Given the description of an element on the screen output the (x, y) to click on. 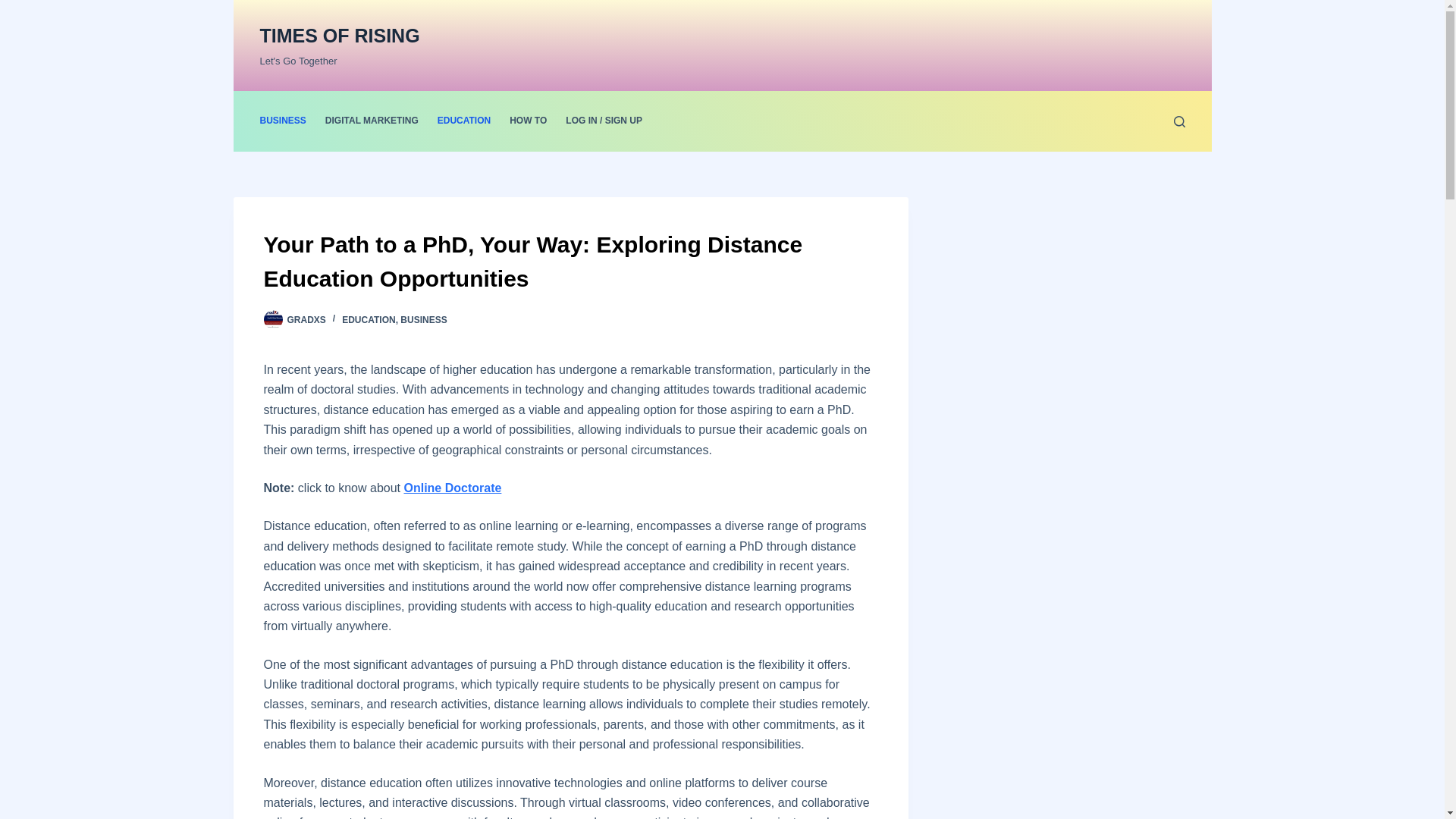
GRADXS (305, 319)
Online Doctorate (451, 487)
EDUCATION (368, 319)
BUSINESS (423, 319)
HOW TO (528, 120)
BUSINESS (287, 120)
Skip to content (15, 7)
DIGITAL MARKETING (371, 120)
TIMES OF RISING (339, 35)
Posts by gradxs (305, 319)
EDUCATION (463, 120)
